Given the description of an element on the screen output the (x, y) to click on. 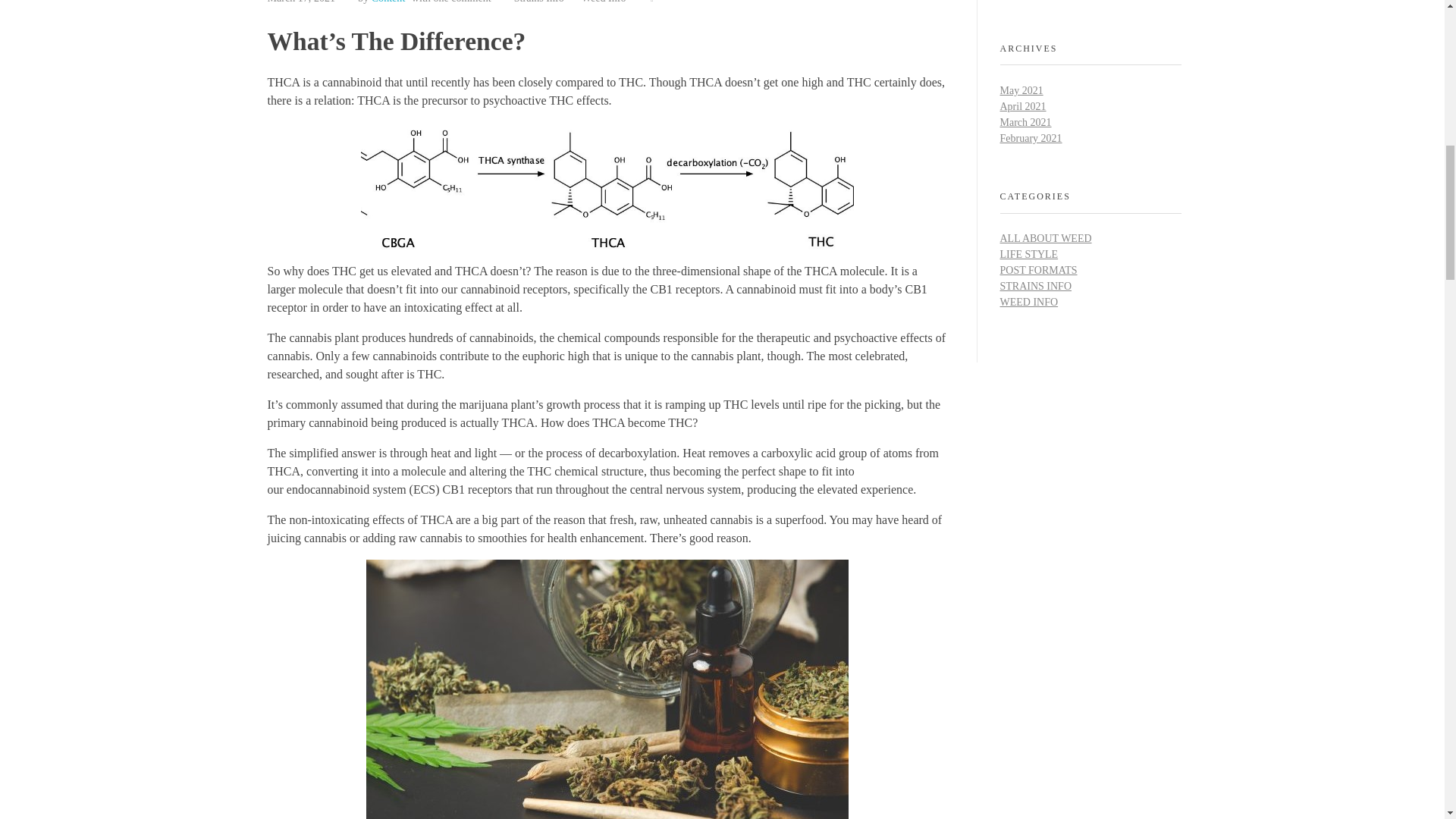
Search (1165, 5)
Content (388, 2)
View all posts in Strains Info (546, 2)
View all posts by Content (388, 2)
Weed Info (603, 2)
View all posts in Weed Info (603, 2)
Search (1165, 5)
Strains Info (546, 2)
